Given the description of an element on the screen output the (x, y) to click on. 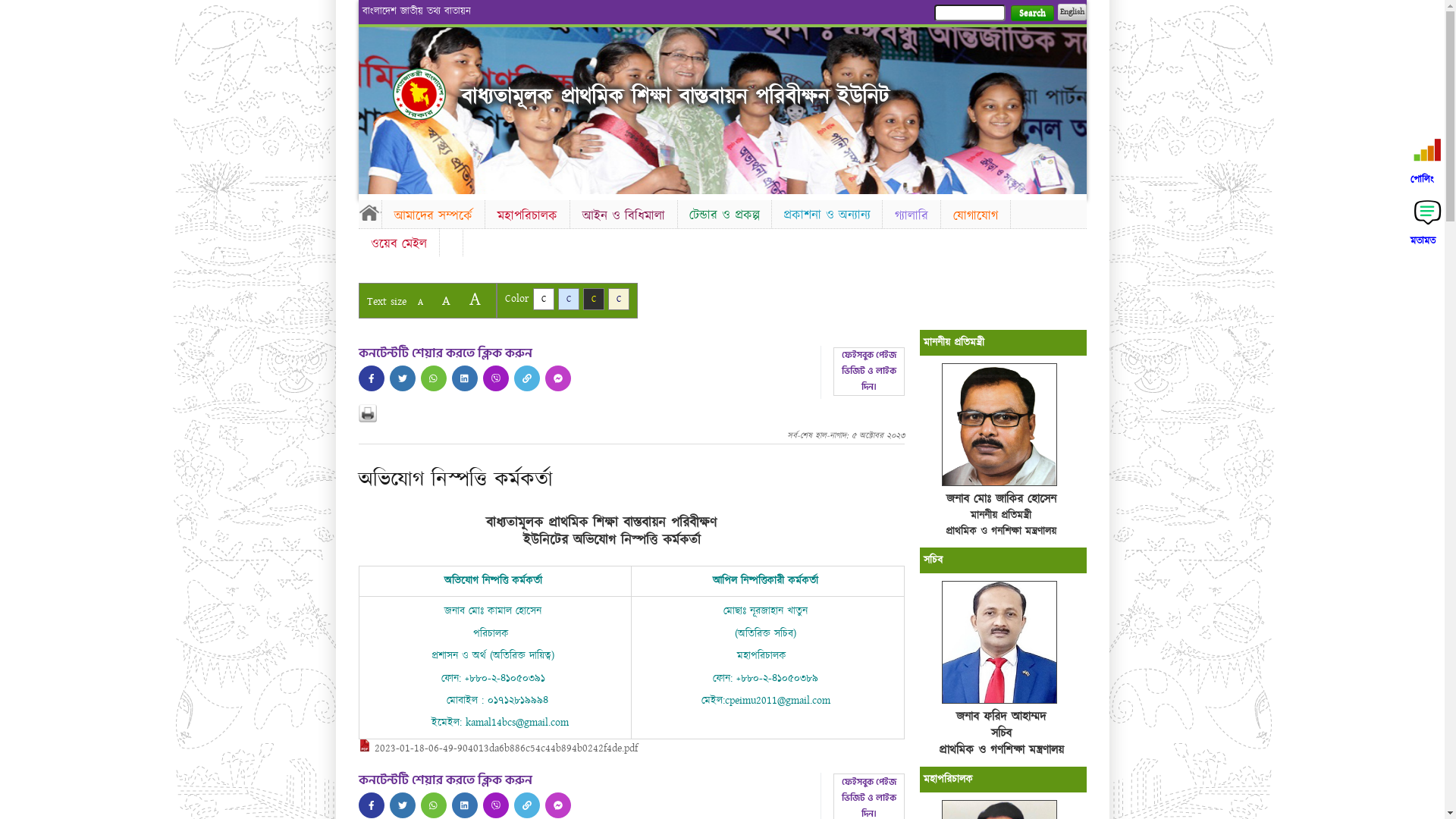
C Element type: text (592, 299)
Search Element type: text (1031, 13)
2023-01-18-06-49-904013da6b886c54c44b894b0242f4de.pdf Element type: text (497, 748)
Home Element type: hover (418, 93)
C Element type: text (542, 299)
C Element type: text (568, 299)
A Element type: text (445, 300)
C Element type: text (618, 299)
Home Element type: hover (368, 211)
English Element type: text (1071, 11)
A Element type: text (474, 298)
A Element type: text (419, 301)
